Given the description of an element on the screen output the (x, y) to click on. 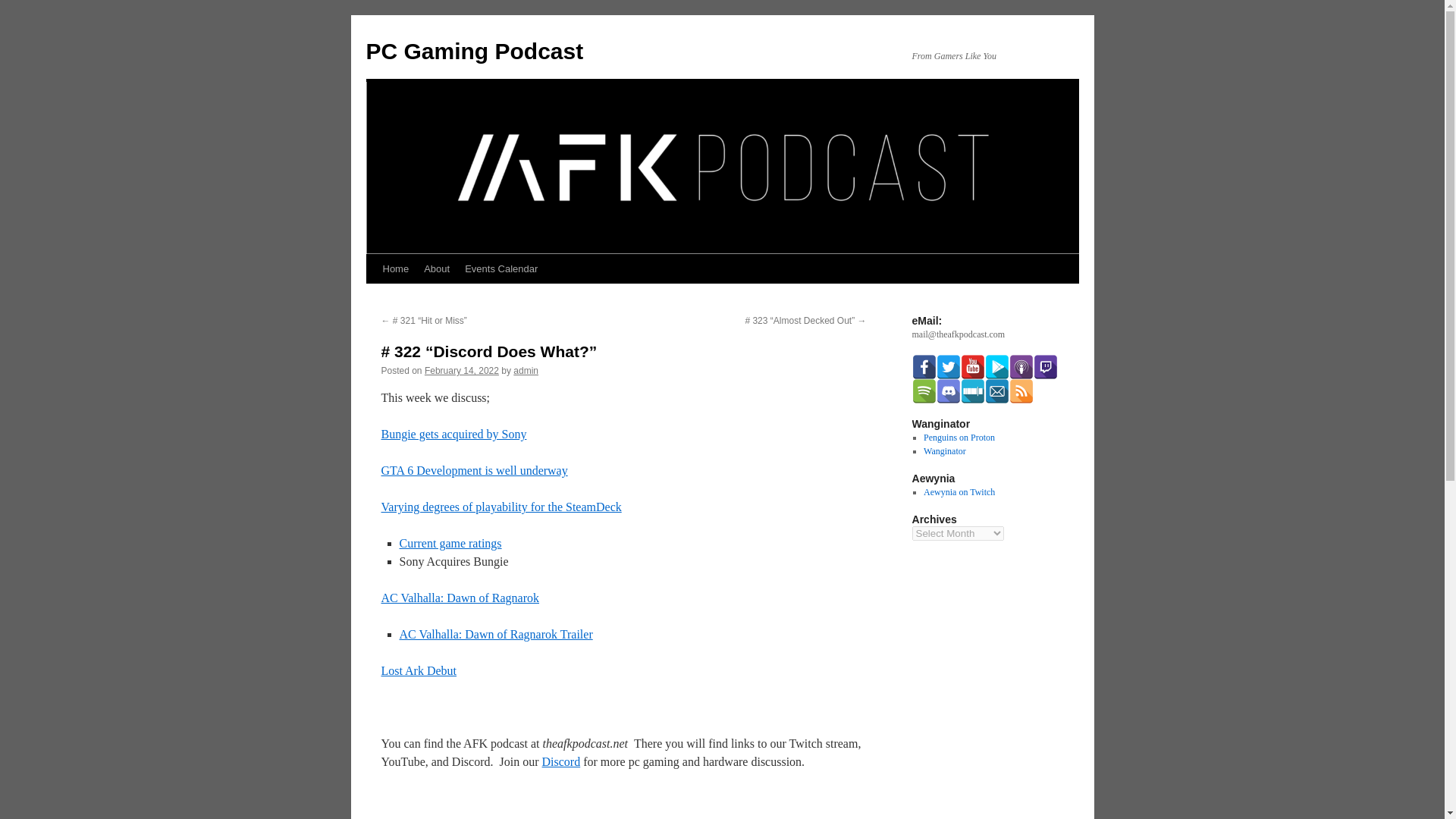
GTA 6 Development is well underway (473, 470)
Twitch (1044, 366)
Lost Ark Debut (418, 670)
admin (525, 370)
11:43 am (462, 370)
PC Gaming Podcast (474, 50)
February 14, 2022 (462, 370)
About (436, 268)
YouTube (971, 366)
Discord (560, 761)
Bungie gets acquired by Sony (452, 433)
AC Valhalla: Dawn of Ragnarok Trailer (495, 634)
Facebook (923, 366)
Home (395, 268)
Google Play (996, 366)
